Given the description of an element on the screen output the (x, y) to click on. 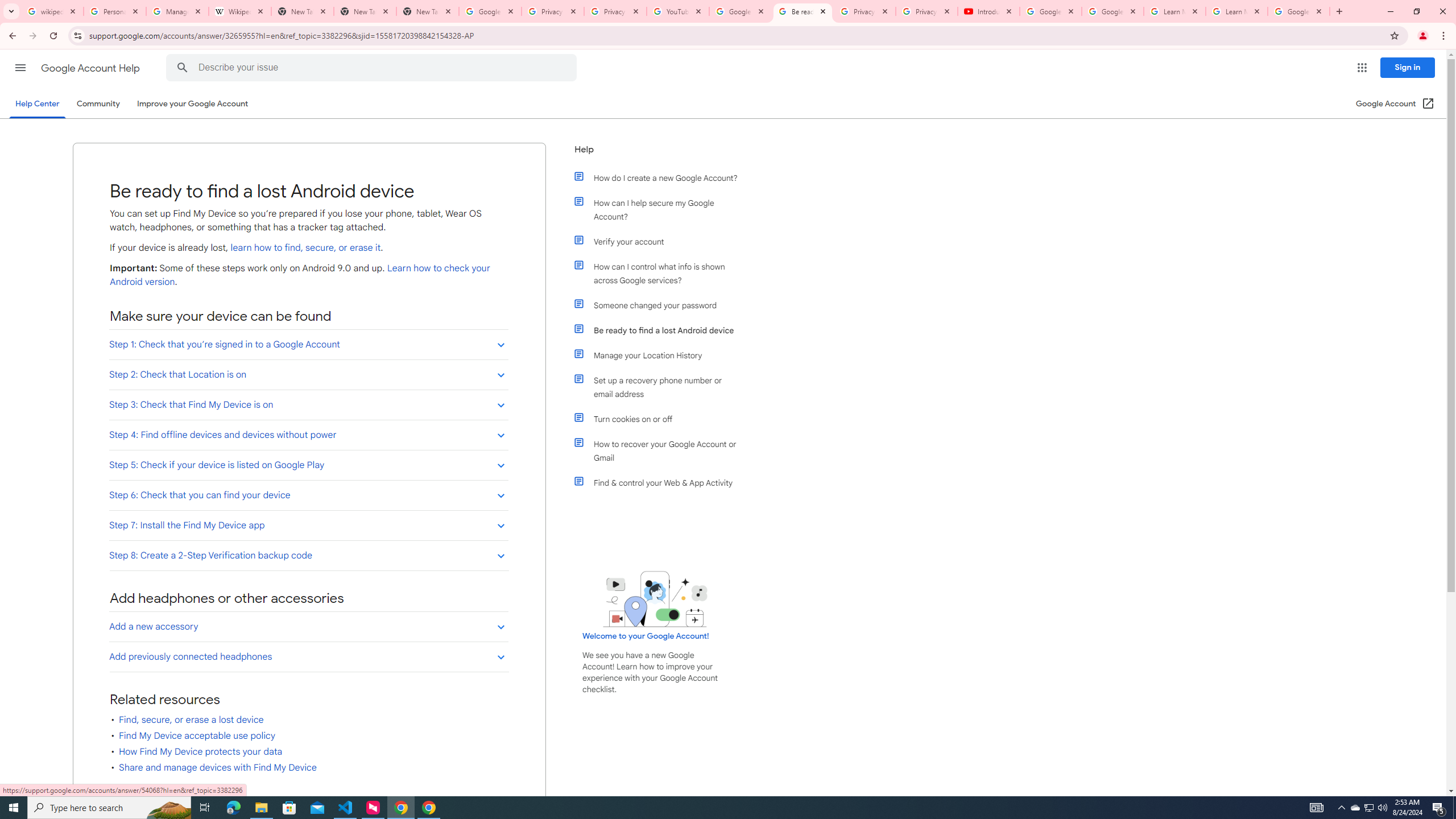
Google Drive: Sign-in (490, 11)
New Tab (365, 11)
Someone changed your password (661, 305)
How can I help secure my Google Account? (661, 209)
Improve your Google Account (192, 103)
Describe your issue (373, 67)
Personalization & Google Search results - Google Search Help (114, 11)
Google Account (1298, 11)
Welcome to your Google Account! (645, 635)
Share and manage devices with Find My Device (218, 767)
